Given the description of an element on the screen output the (x, y) to click on. 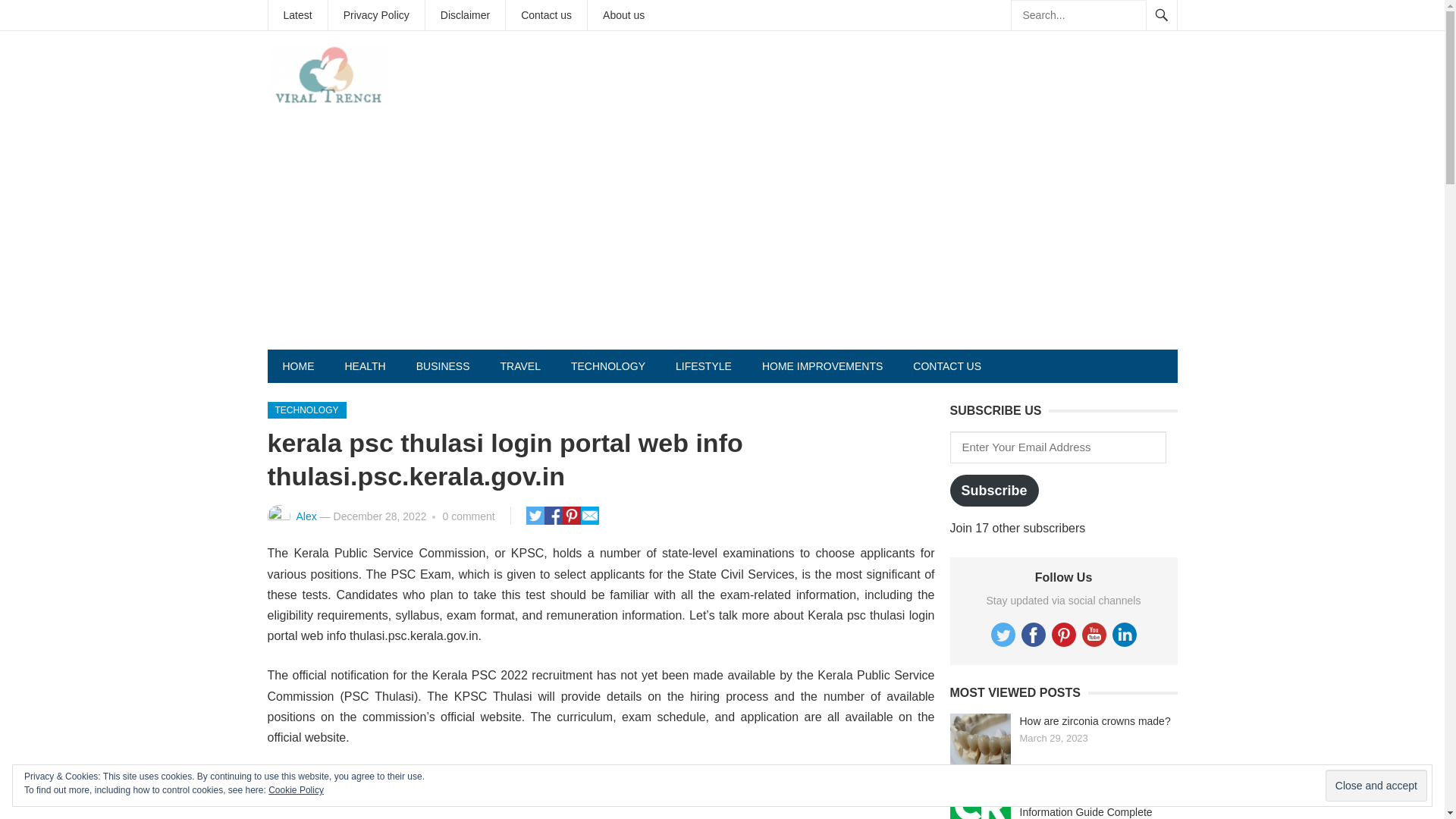
Contact us (545, 15)
BUSINESS (442, 366)
Posts by Alex (305, 516)
Close and accept (1375, 785)
TECHNOLOGY (608, 366)
TRAVEL (520, 366)
View all posts in Technology (306, 410)
Privacy Policy (377, 15)
HOME IMPROVEMENTS (822, 366)
Latest (297, 15)
